Given the description of an element on the screen output the (x, y) to click on. 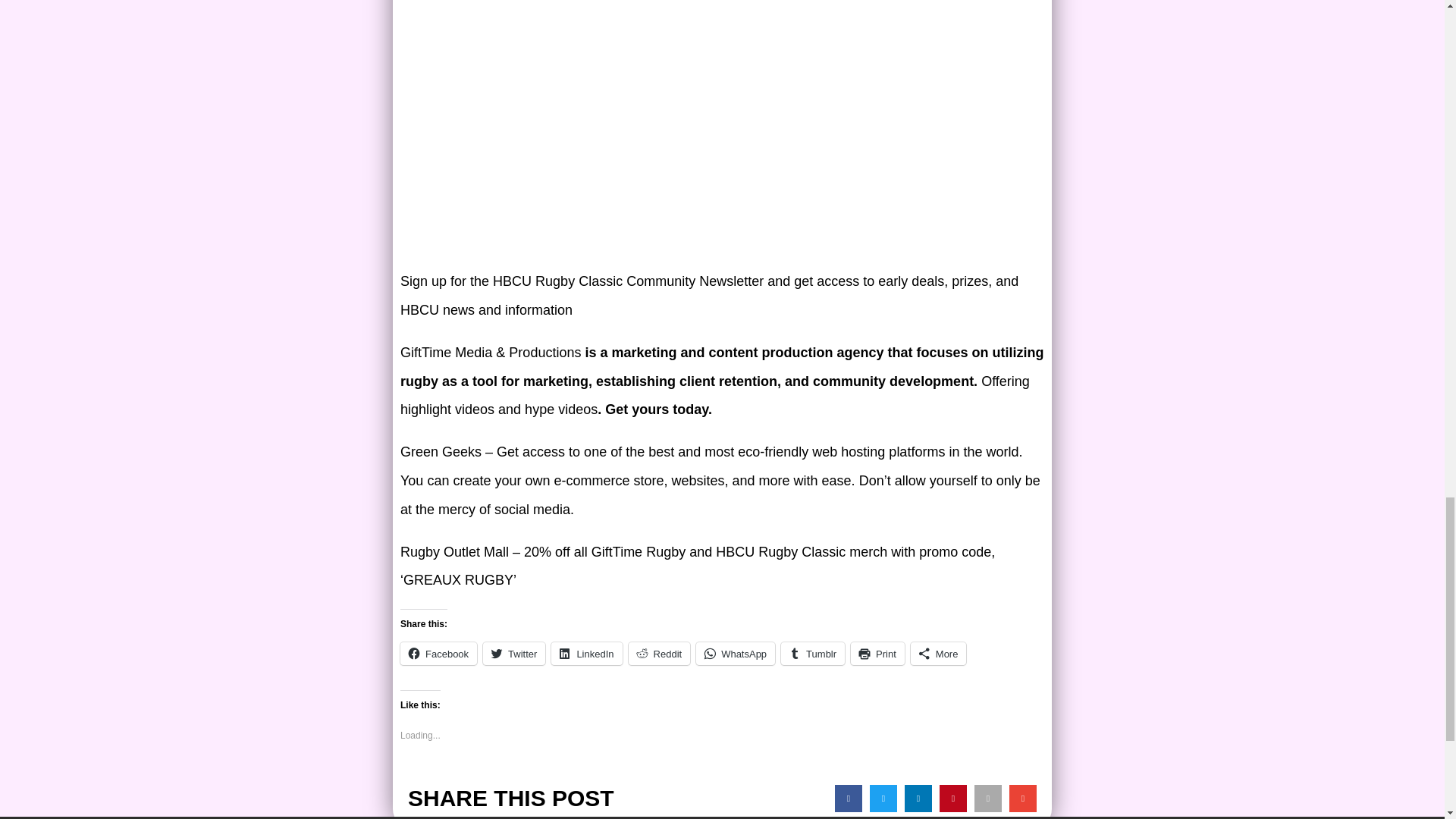
Click to share on LinkedIn (586, 653)
Click to share on Twitter (513, 653)
Click to share on WhatsApp (734, 653)
Click to print (877, 653)
Click to share on Reddit (659, 653)
Click to share on Tumblr (812, 653)
Click to share on Facebook (438, 653)
